Given the description of an element on the screen output the (x, y) to click on. 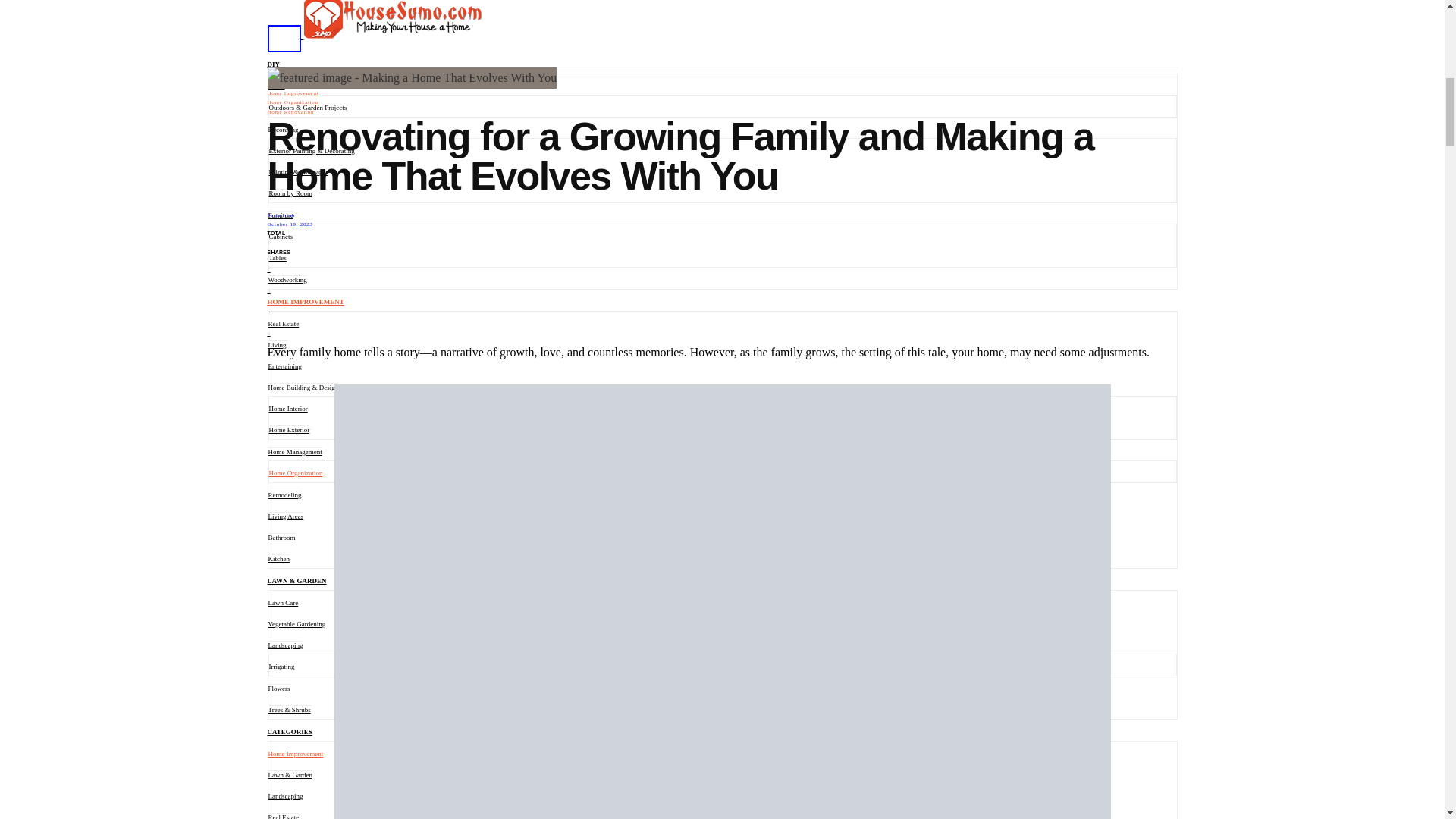
DIY (272, 63)
View all posts by Perla Irish (280, 215)
